Given the description of an element on the screen output the (x, y) to click on. 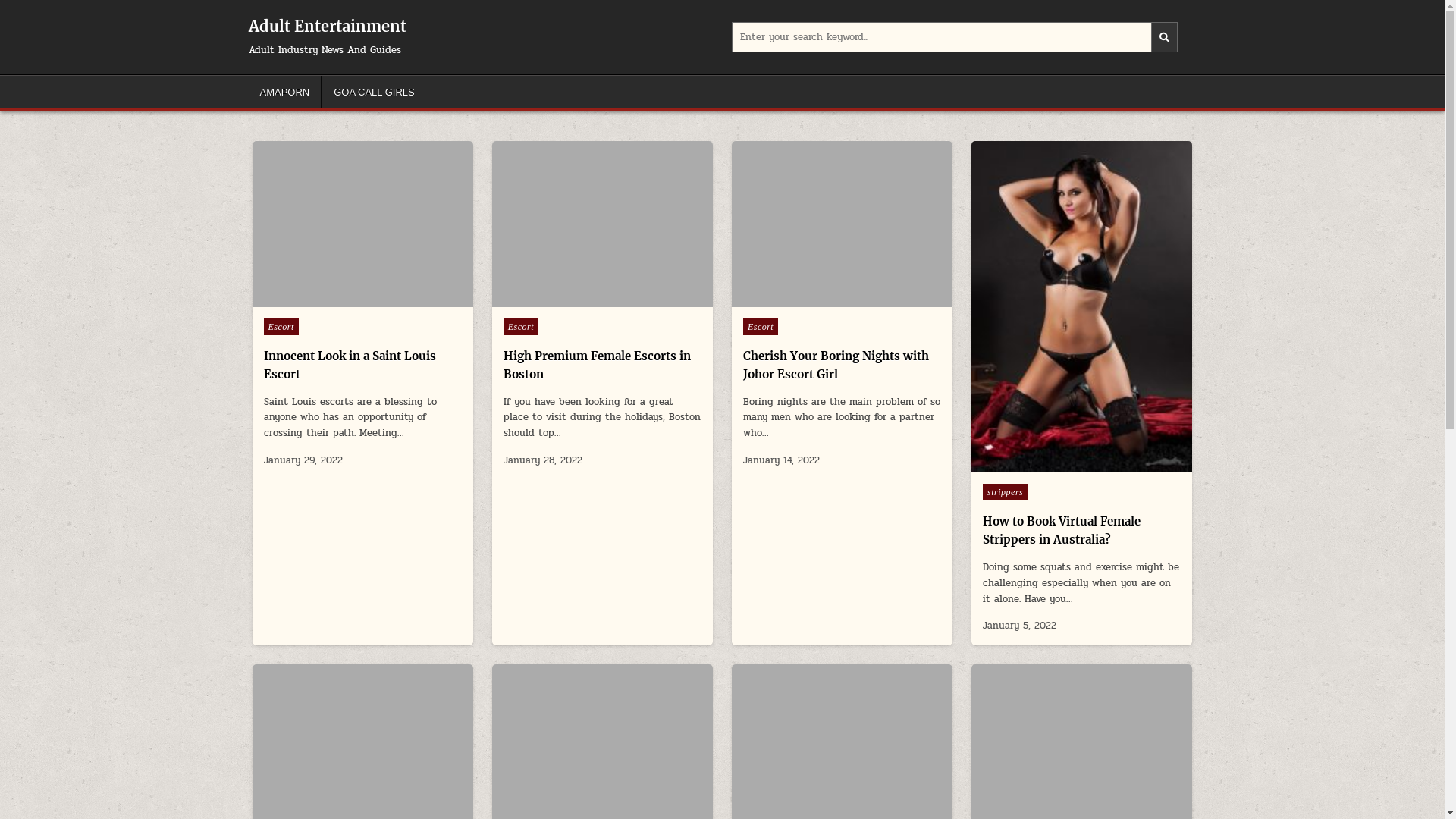
AMAPORN Element type: text (285, 91)
Adult Entertainment Element type: text (327, 25)
Cherish Your Boring Nights with Johor Escort Girl Element type: text (835, 364)
Escort Element type: text (280, 326)
strippers Element type: text (1004, 491)
Escort Element type: text (520, 326)
Innocent Look in a Saint Louis Escort Element type: text (349, 364)
Permanent Link to High Premium Female Escorts in Boston Element type: hover (602, 224)
Escort Element type: text (760, 326)
Permanent Link to Innocent Look in a Saint Louis Escort Element type: hover (361, 224)
How to Book Virtual Female Strippers in Australia? Element type: text (1061, 530)
High Premium Female Escorts in Boston Element type: text (596, 364)
GOA CALL GIRLS Element type: text (373, 91)
